Given the description of an element on the screen output the (x, y) to click on. 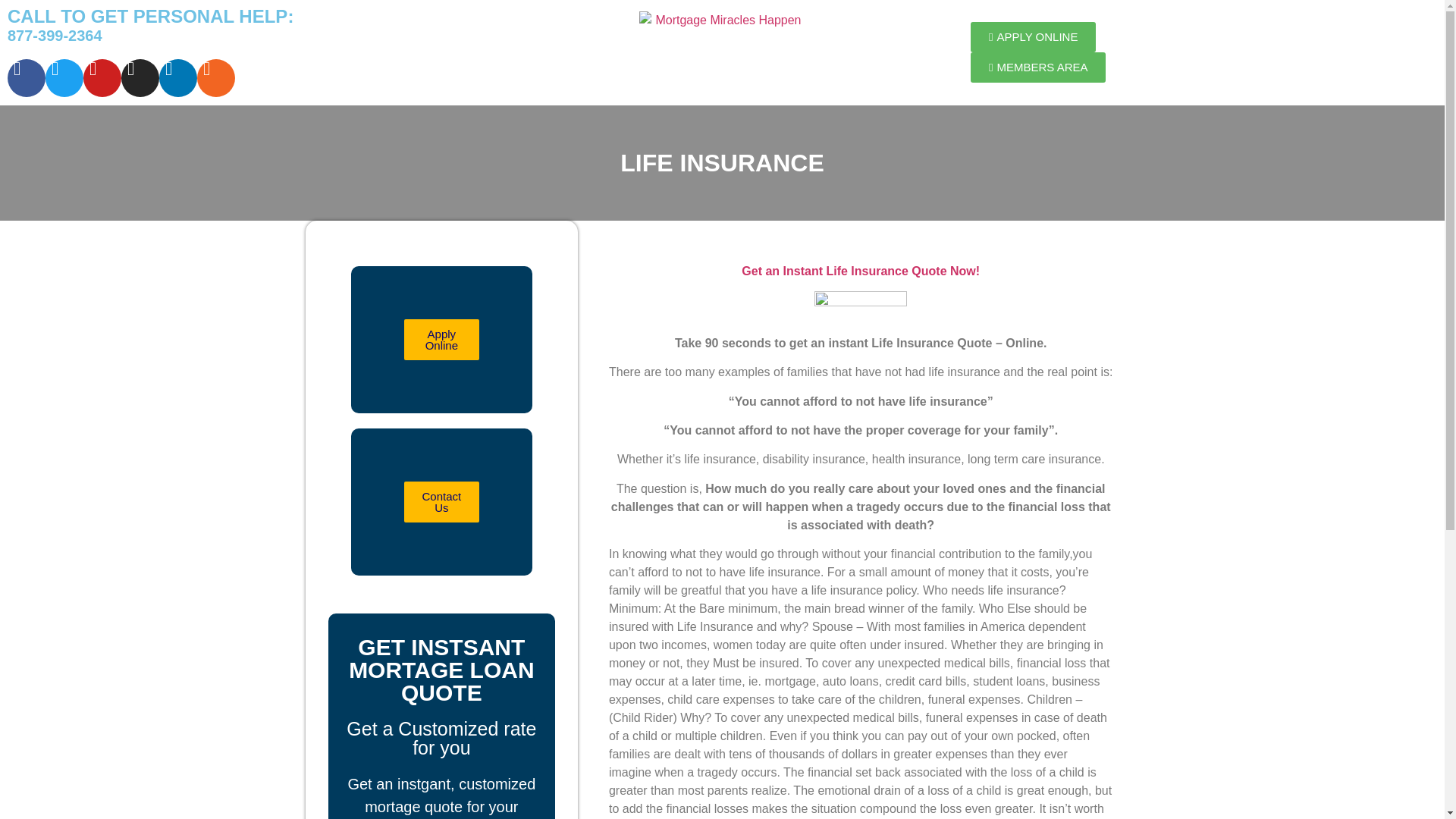
Contact Us (441, 501)
MEMBERS AREA (1038, 67)
Apply Online (441, 339)
Get an Instant Life Insurance Quote Now! (860, 270)
APPLY ONLINE (1033, 37)
Insure My Life Right - Life Insurance online application (860, 301)
ApplyOnline1 (860, 306)
Instant Online Life Insurance Quote (860, 270)
